Given the description of an element on the screen output the (x, y) to click on. 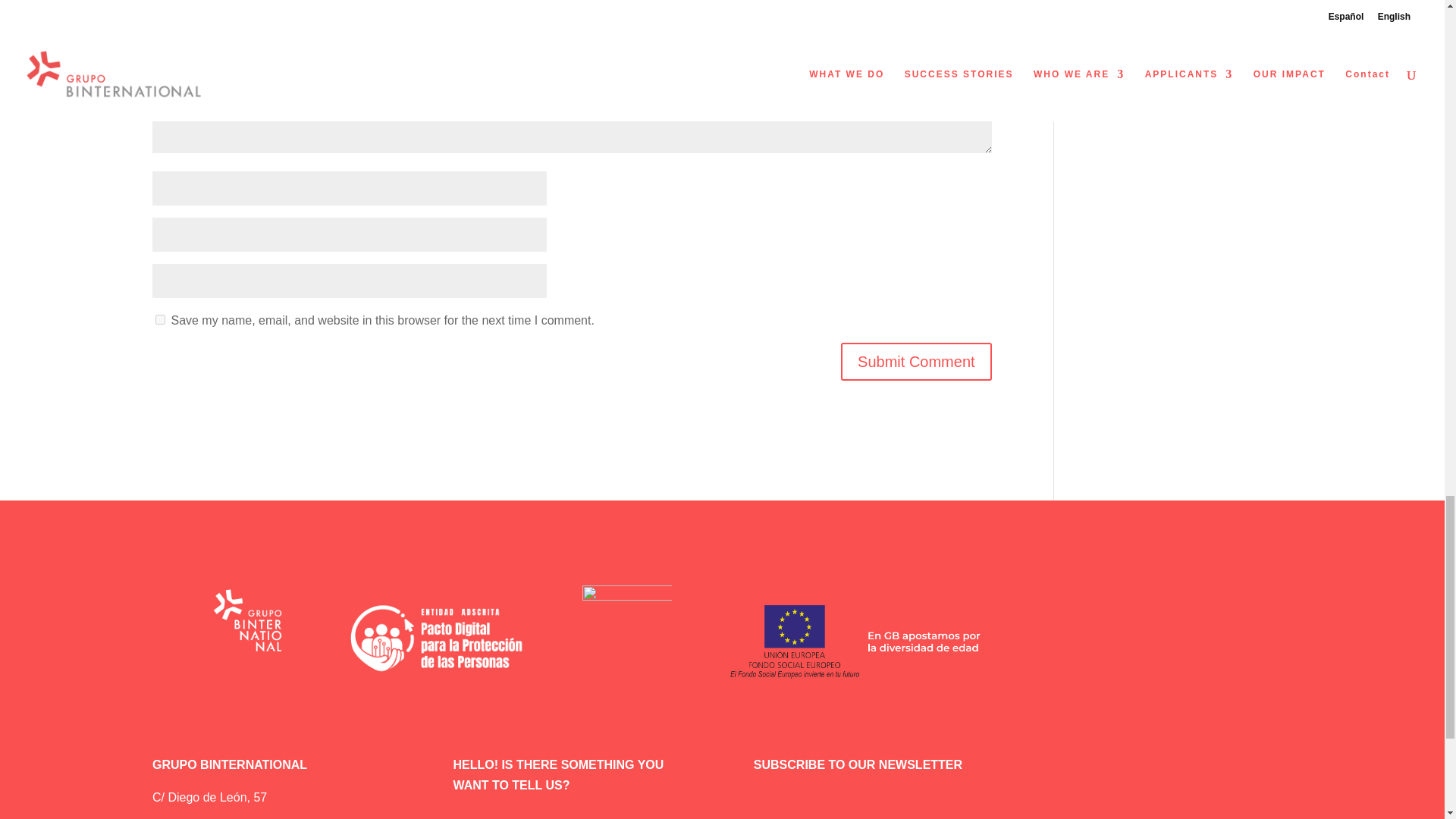
yes (160, 319)
Submit Comment (916, 361)
Form 1 (1023, 800)
FSE GB (856, 641)
Submit Comment (916, 361)
